Given the description of an element on the screen output the (x, y) to click on. 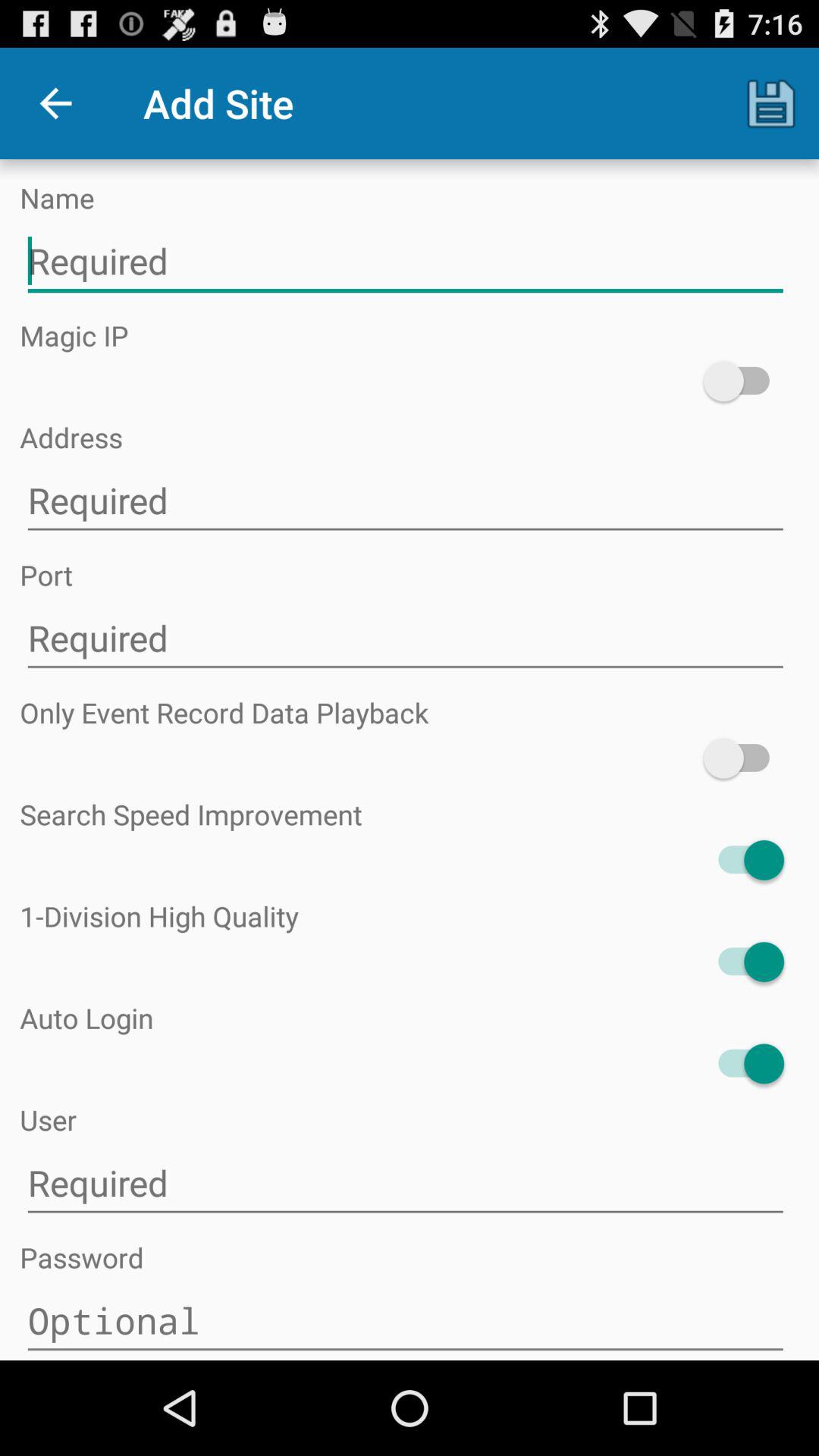
open the item above 1 division high item (743, 860)
